Given the description of an element on the screen output the (x, y) to click on. 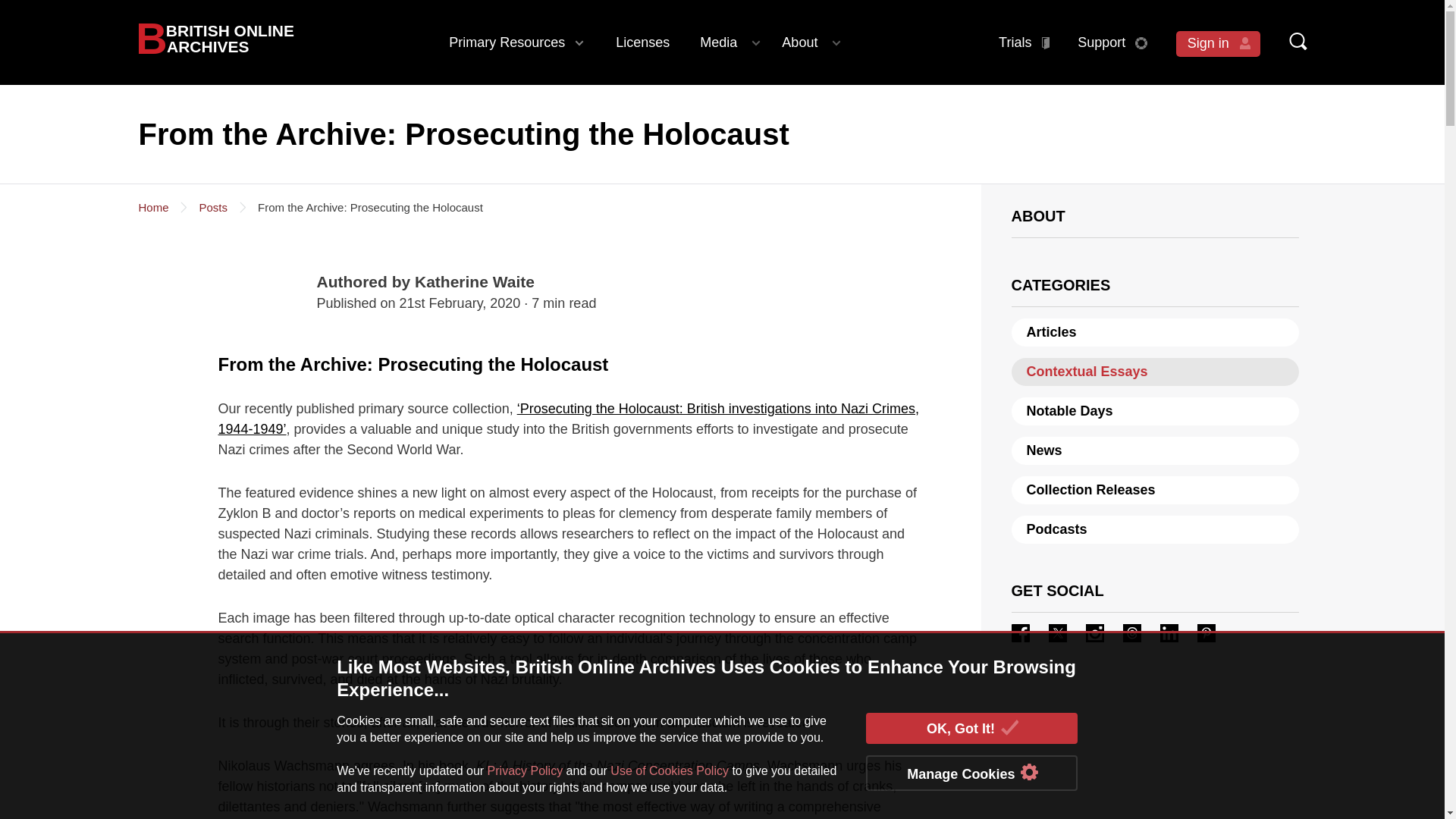
Licenses (216, 38)
Primary Resources (641, 42)
Go to the homepage (216, 38)
